Given the description of an element on the screen output the (x, y) to click on. 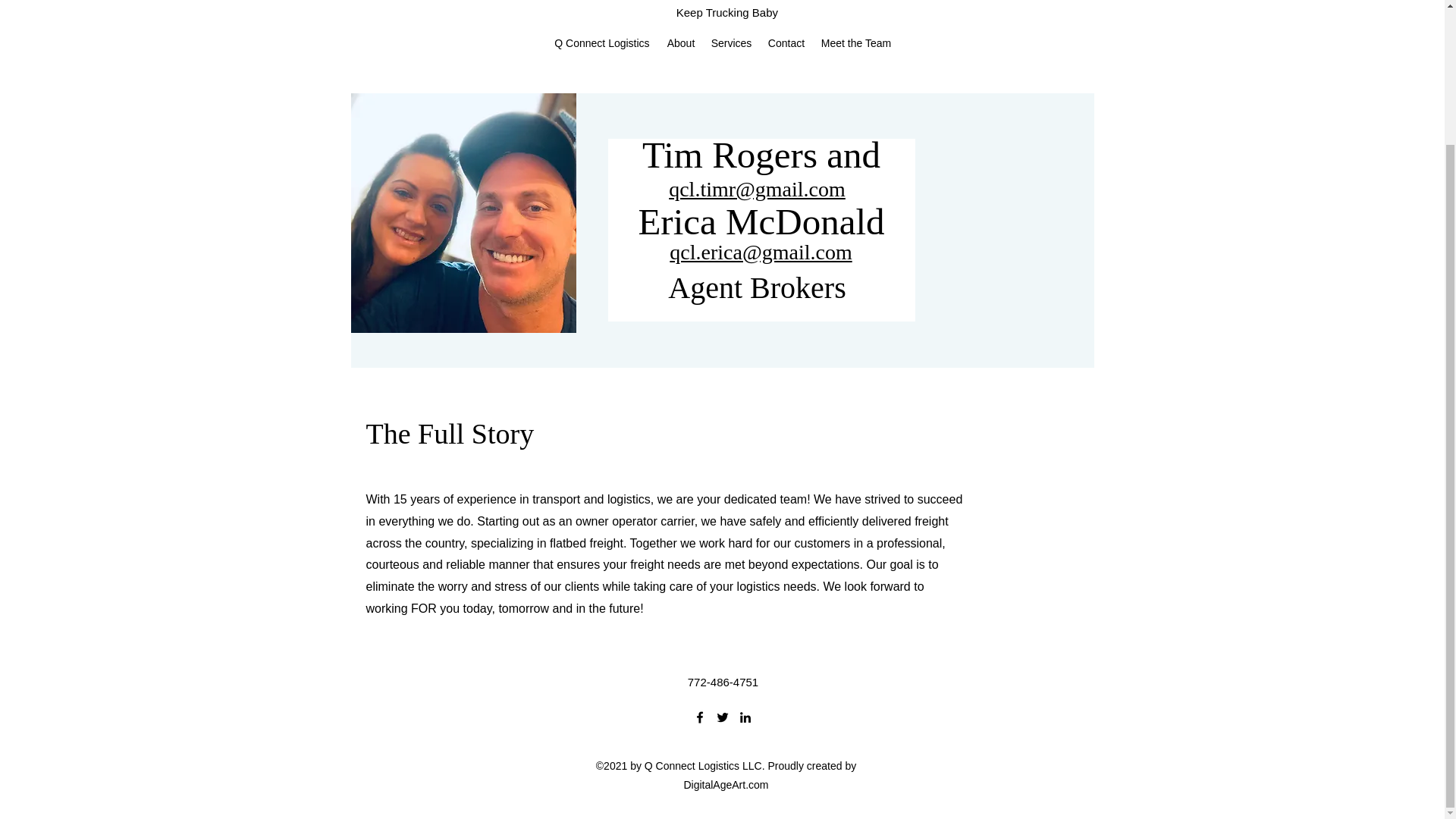
Services (731, 42)
Contact (786, 42)
Meet the Team (855, 42)
Q Connect Logistics (601, 42)
About (681, 42)
